Given the description of an element on the screen output the (x, y) to click on. 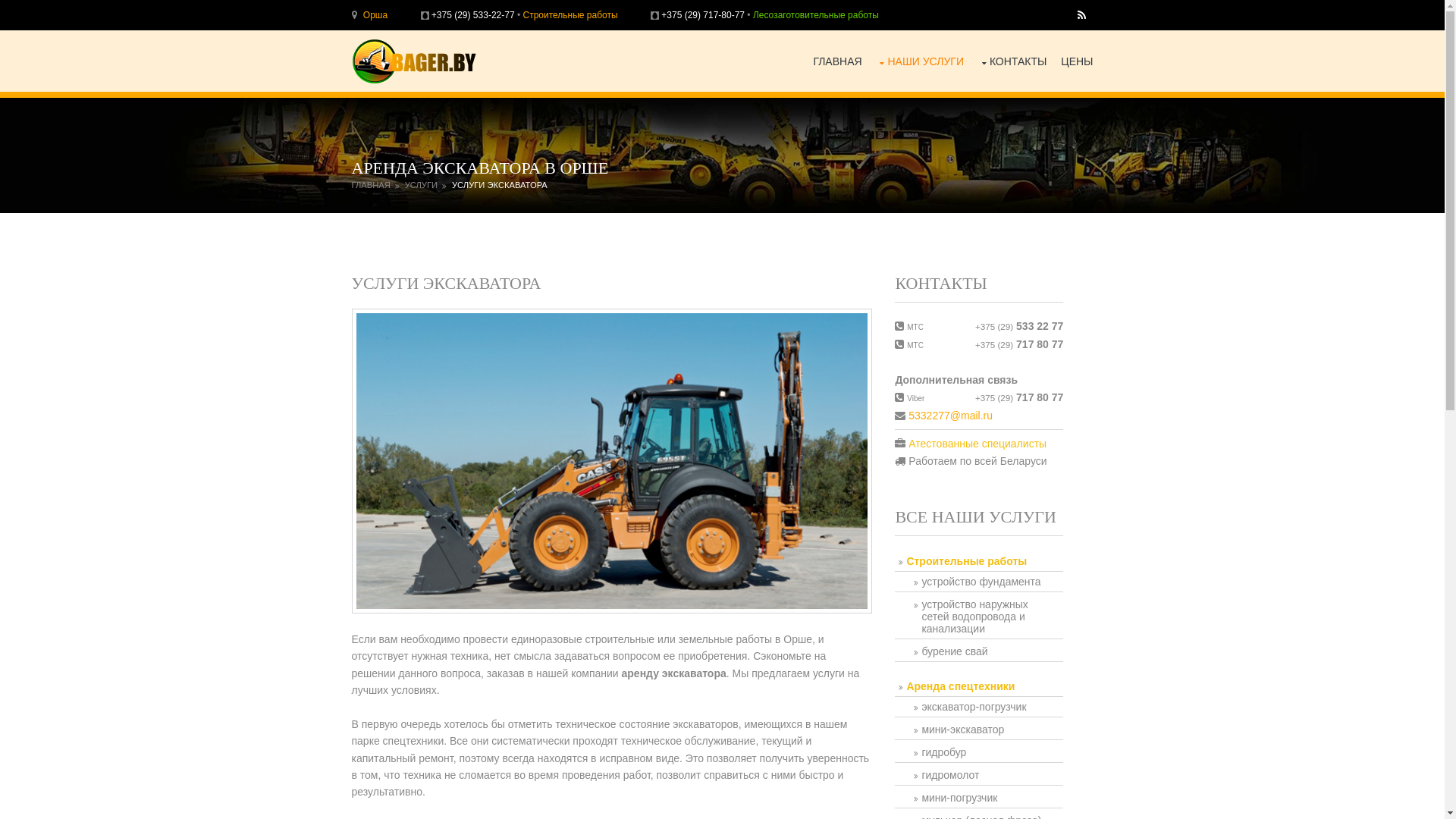
5332277@mail.ru Element type: text (950, 415)
